Given the description of an element on the screen output the (x, y) to click on. 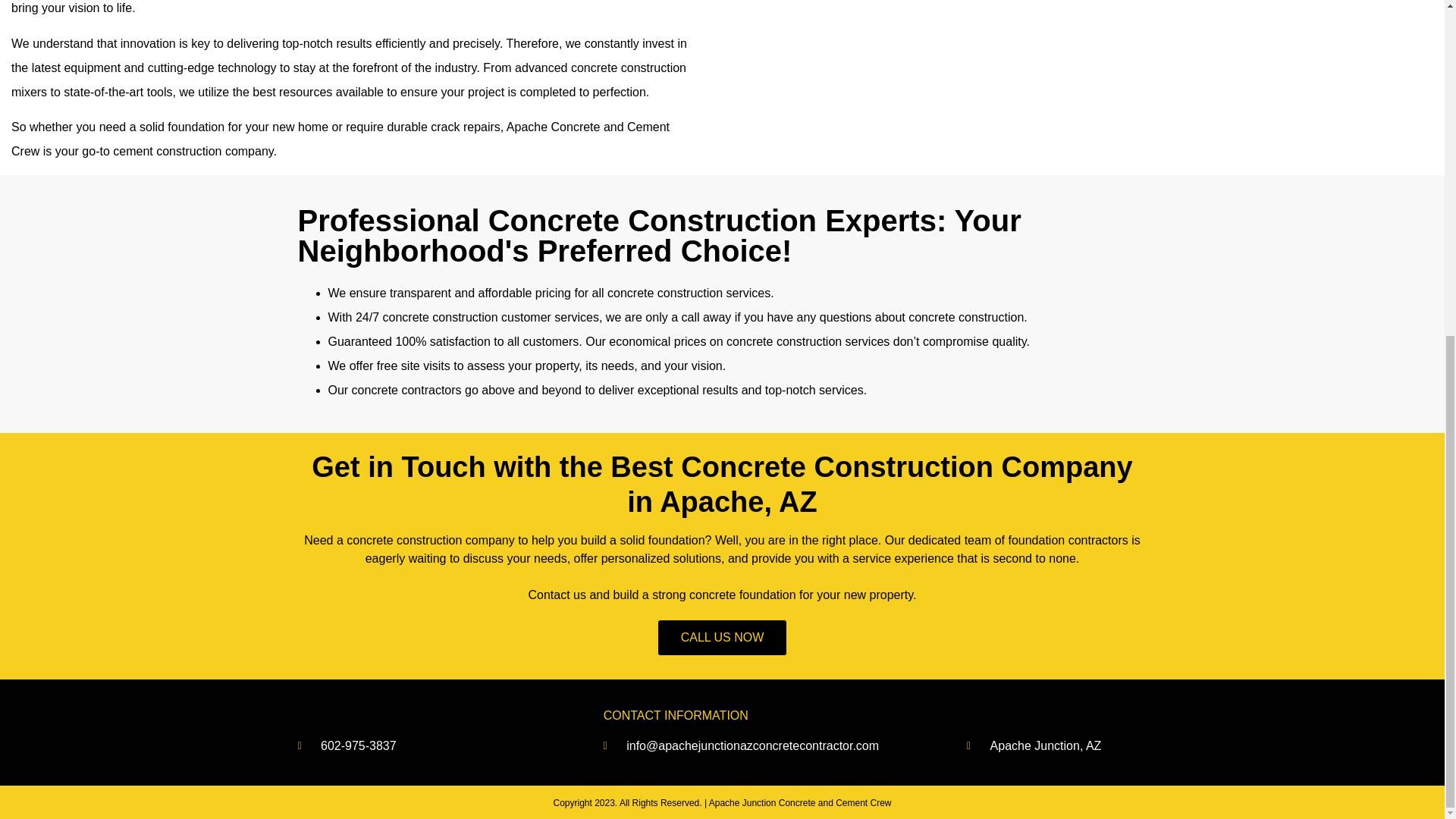
CALL US NOW (722, 637)
602-975-3837 (419, 746)
